Given the description of an element on the screen output the (x, y) to click on. 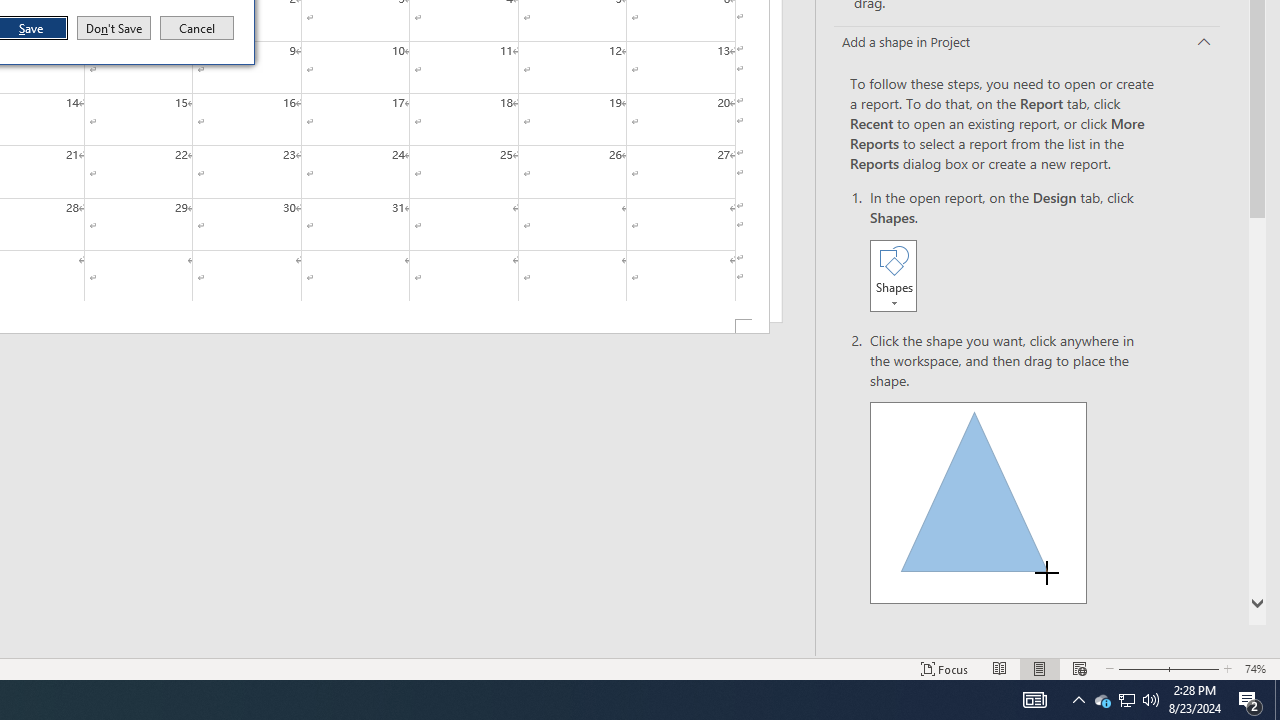
Insert Shapes button (893, 275)
In the open report, on the Design tab, click Shapes. (1012, 251)
Add a shape in Project (1026, 43)
AutomationID: 4105 (1034, 699)
